Given the description of an element on the screen output the (x, y) to click on. 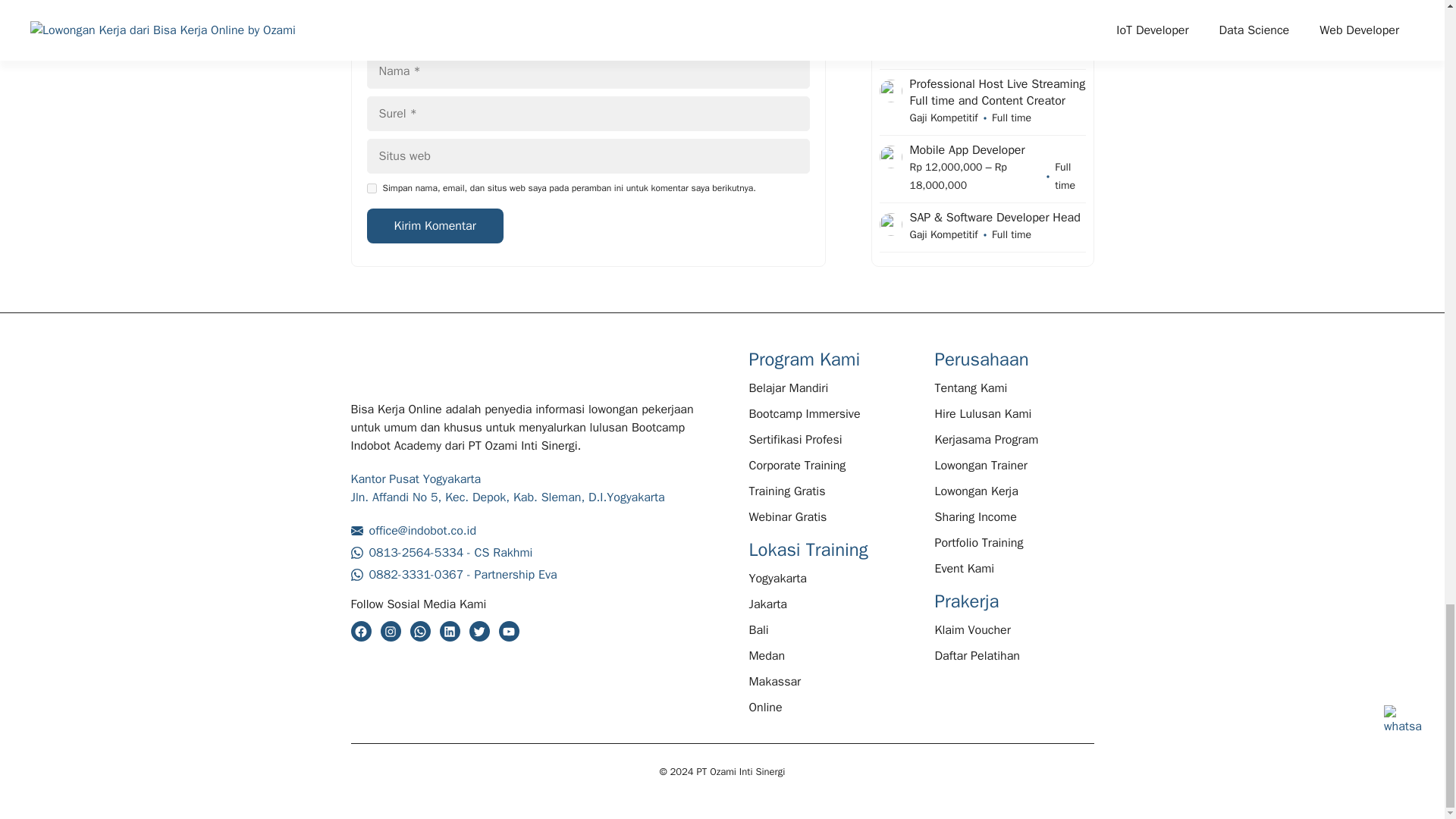
Kirim Komentar (434, 225)
Logo-Indobot-Ozami-Iso-400x100 (426, 370)
yes (371, 187)
